Given the description of an element on the screen output the (x, y) to click on. 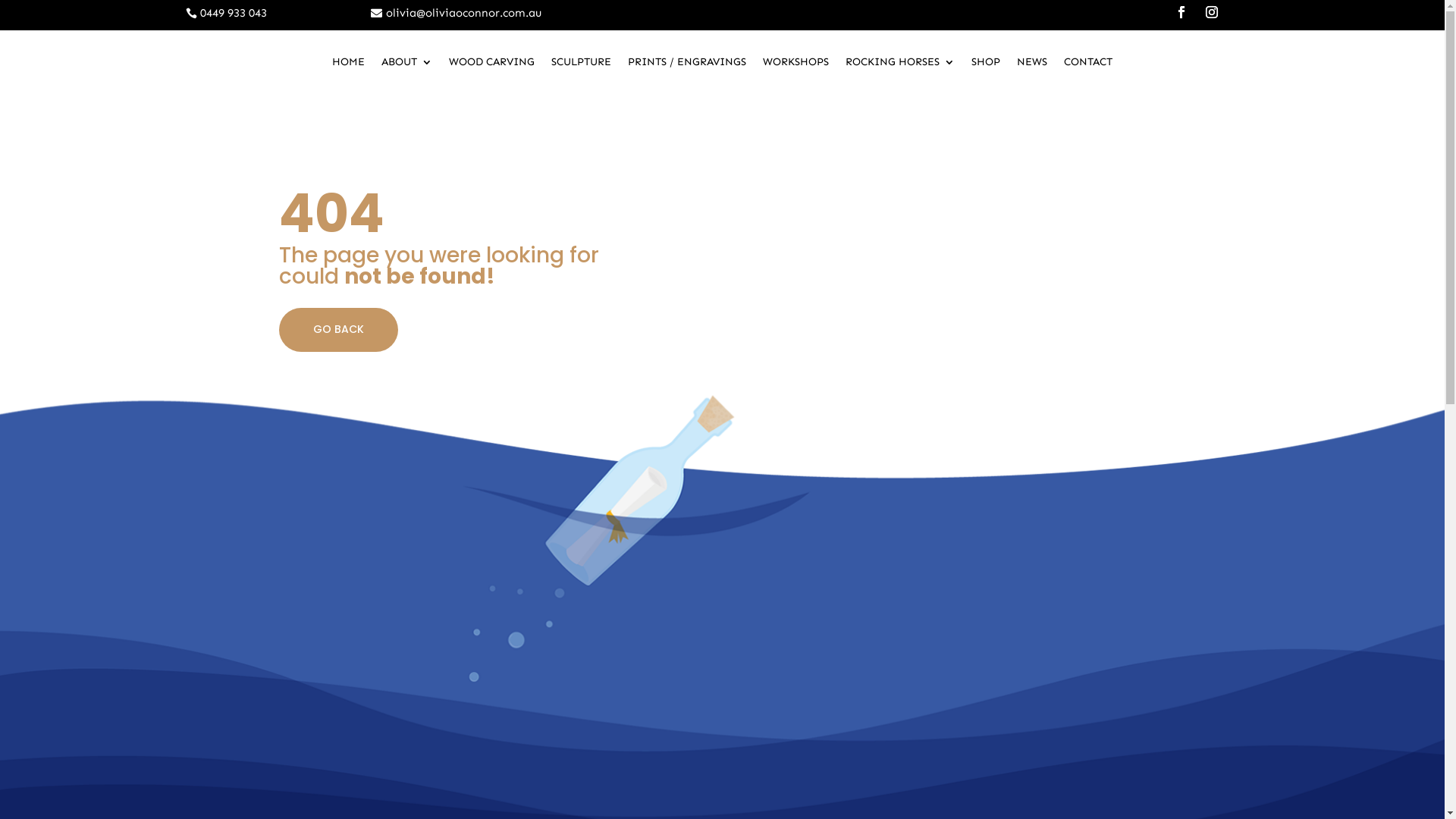
CONTACT Element type: text (1087, 64)
ABOUT Element type: text (406, 64)
olivia@oliviaoconnor.com.au Element type: text (456, 13)
Follow on Instagram Element type: hover (1211, 12)
HOME Element type: text (348, 64)
WORKSHOPS Element type: text (795, 64)
WOOD CARVING Element type: text (491, 64)
SHOP Element type: text (985, 64)
GO BACK Element type: text (338, 329)
ROCKING HORSES Element type: text (899, 64)
Follow on Facebook Element type: hover (1181, 12)
0449 933 043 Element type: text (226, 13)
SCULPTURE Element type: text (581, 64)
NEWS Element type: text (1031, 64)
PRINTS / ENGRAVINGS Element type: text (686, 64)
